Given the description of an element on the screen output the (x, y) to click on. 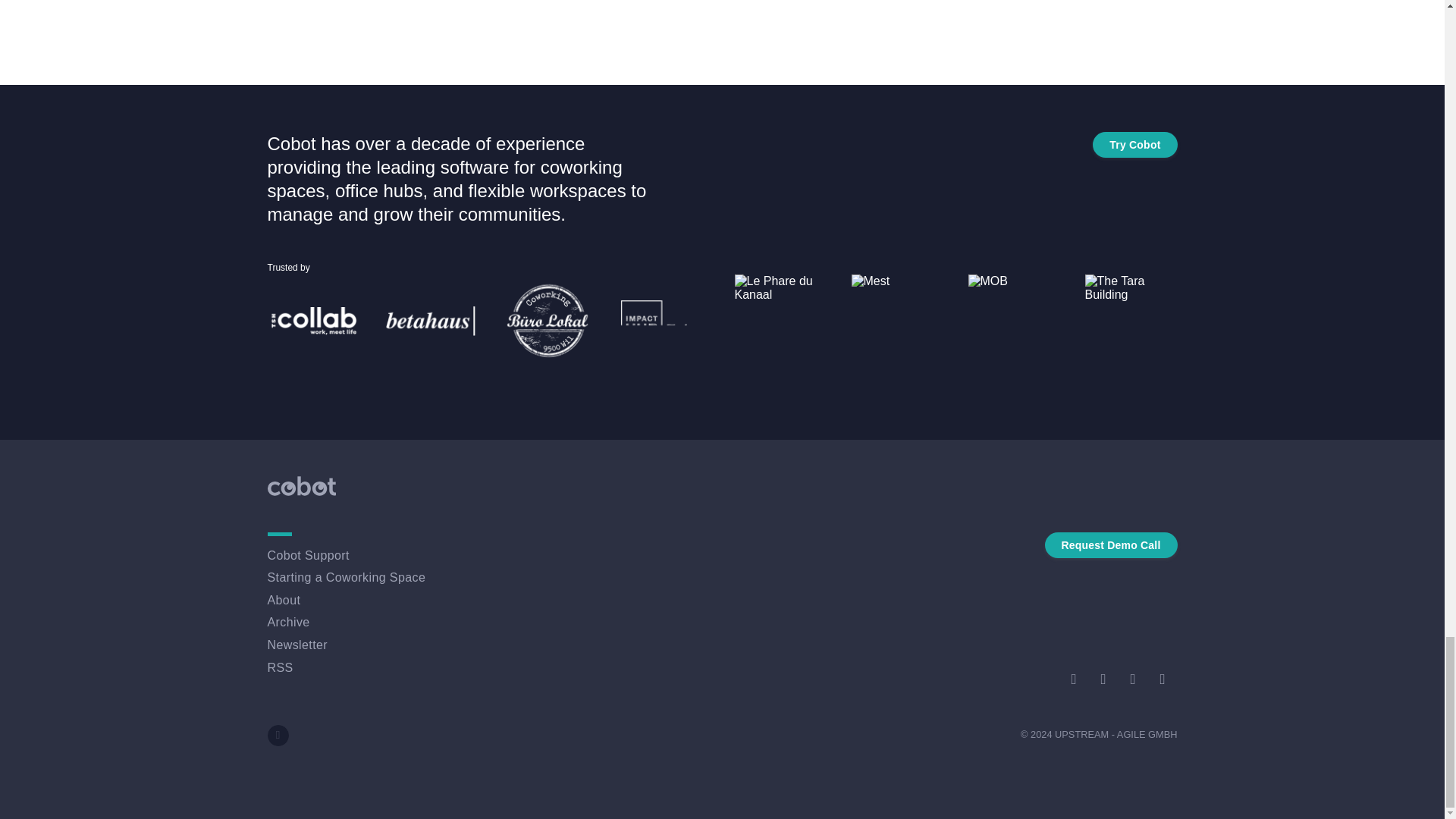
Instagram (1161, 679)
YouTube (1102, 679)
Cobot Homepage (300, 485)
Twitter (1072, 679)
Facebook (1132, 679)
